Given the description of an element on the screen output the (x, y) to click on. 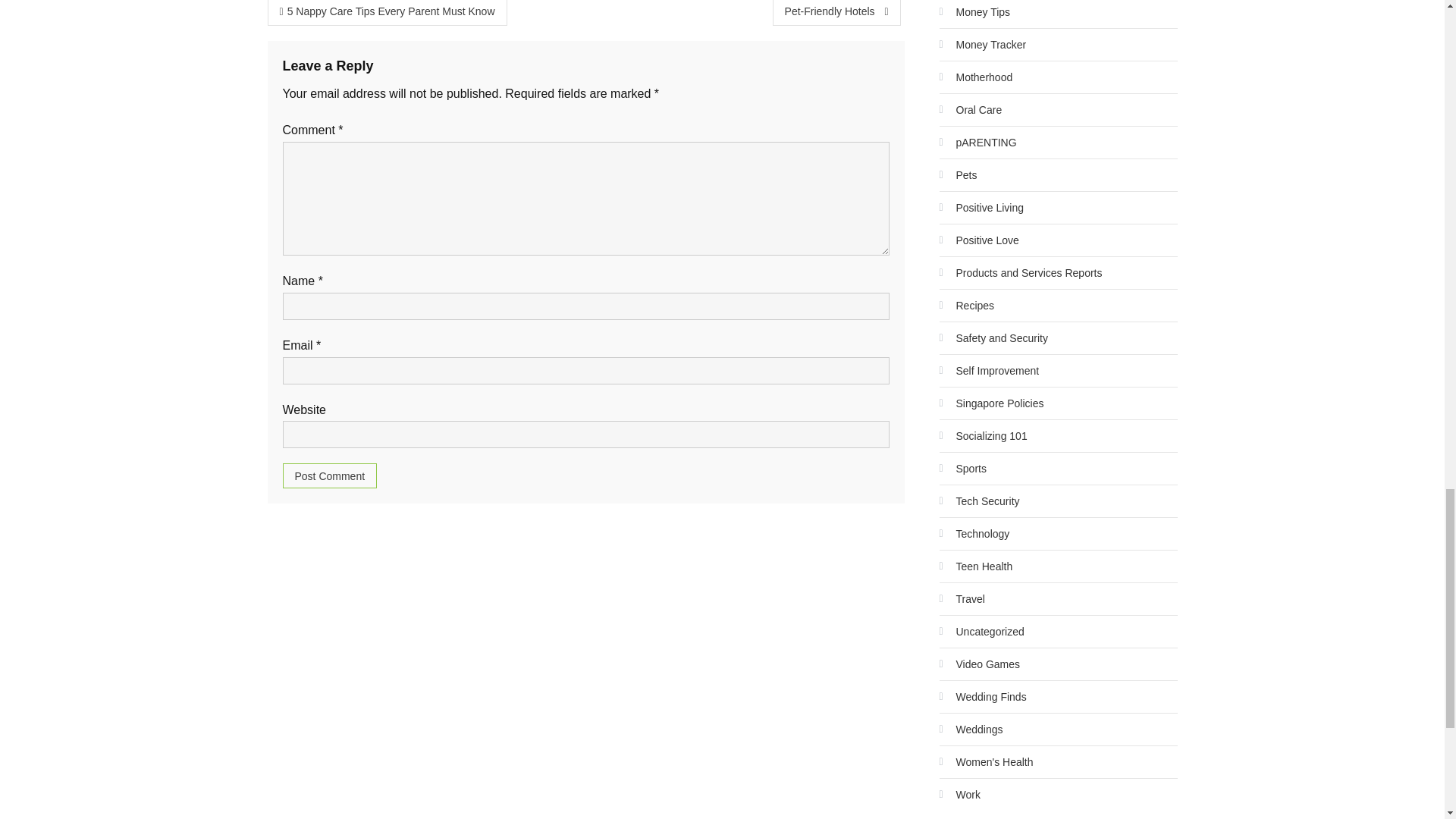
Pet-Friendly Hotels   (837, 12)
5 Nappy Care Tips Every Parent Must Know (386, 12)
Post Comment (329, 475)
Post Comment (329, 475)
